Given the description of an element on the screen output the (x, y) to click on. 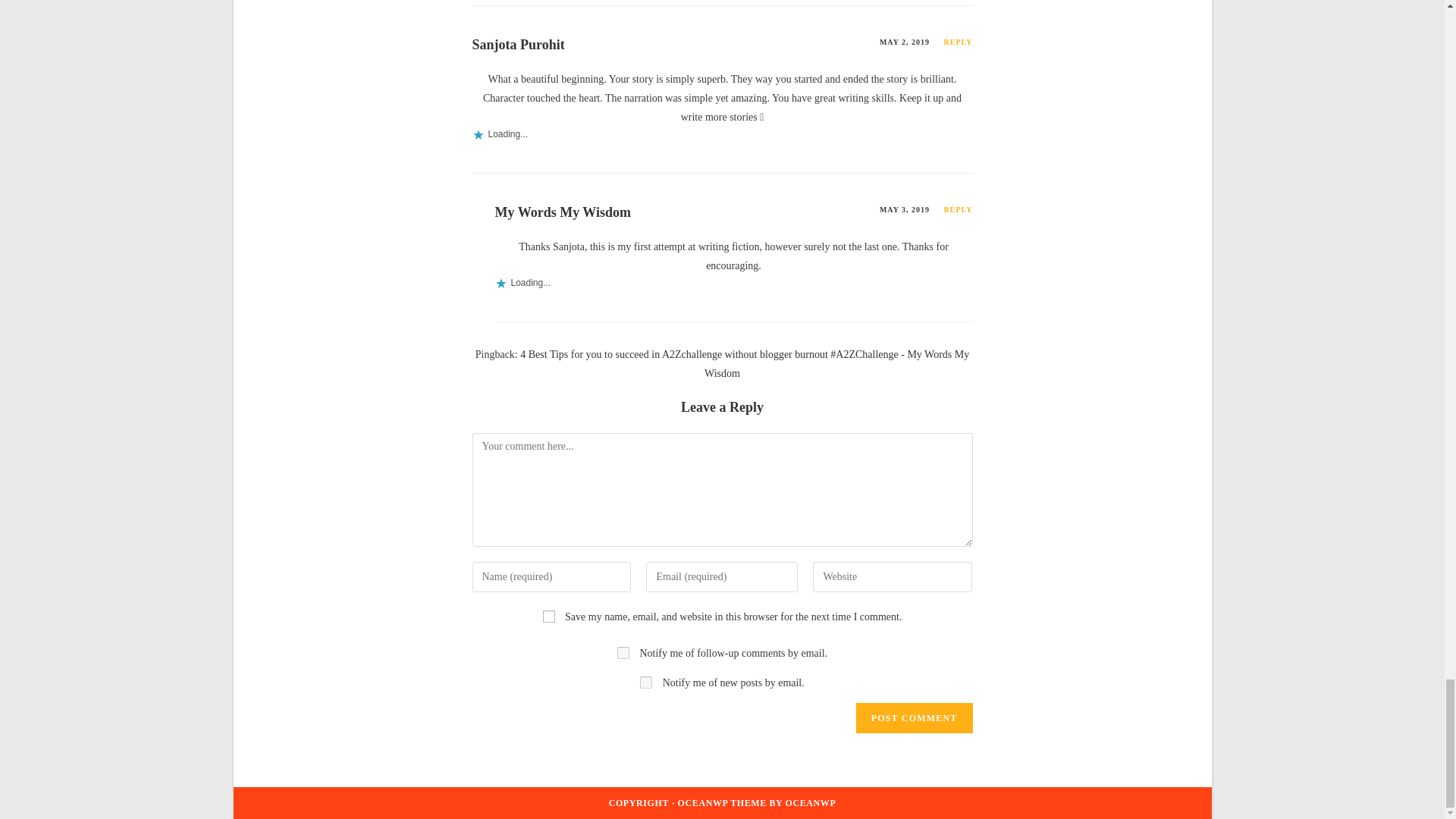
yes (548, 616)
Post Comment (914, 717)
subscribe (622, 653)
subscribe (646, 682)
